Given the description of an element on the screen output the (x, y) to click on. 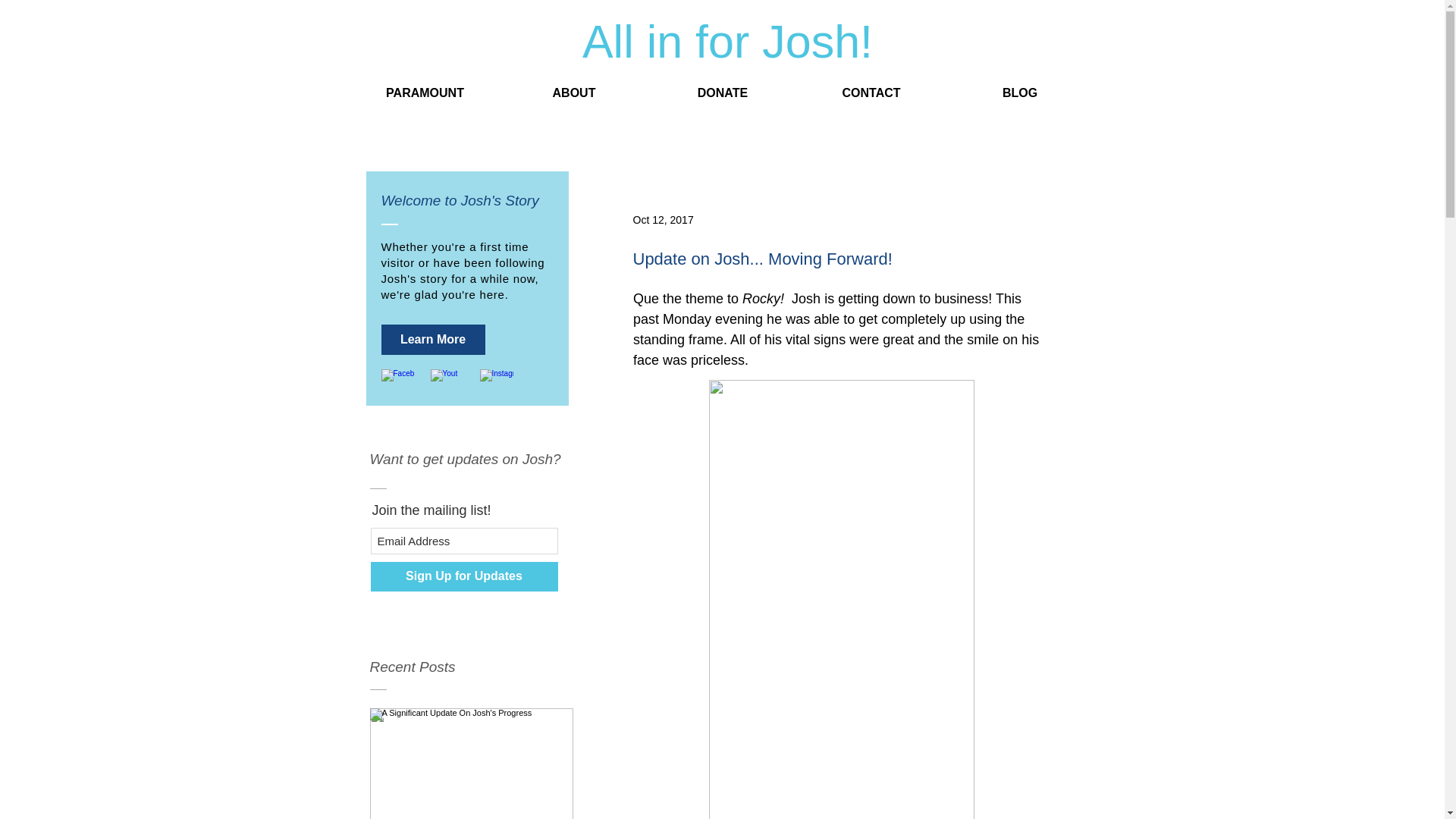
PARAMOUNT (424, 92)
Learn More (432, 339)
BLOG (1018, 92)
ABOUT (573, 92)
Sign Up for Updates (463, 576)
Oct 12, 2017 (662, 219)
DONATE (721, 92)
CONTACT (870, 92)
